Given the description of an element on the screen output the (x, y) to click on. 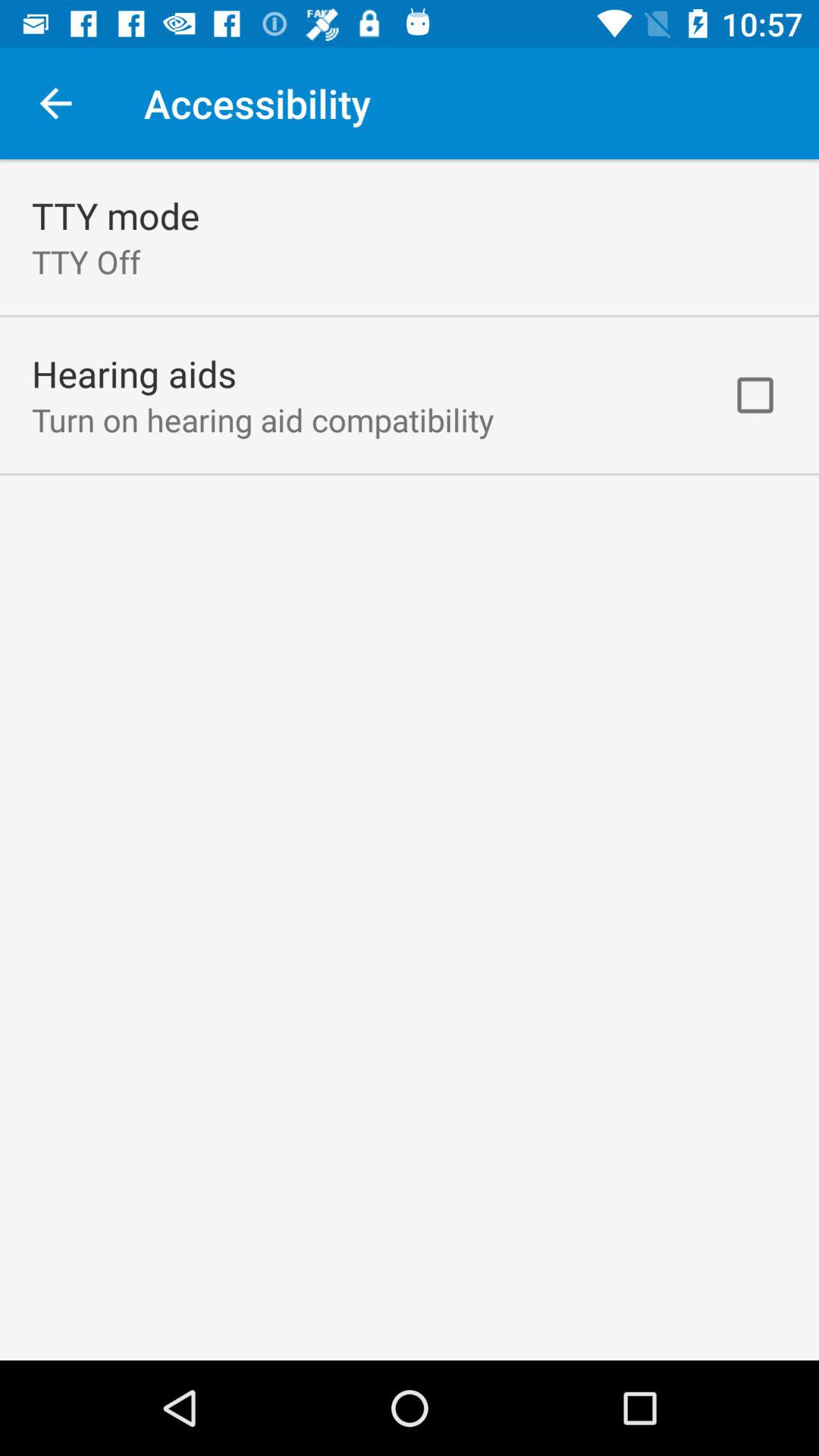
click icon at the top right corner (755, 395)
